Given the description of an element on the screen output the (x, y) to click on. 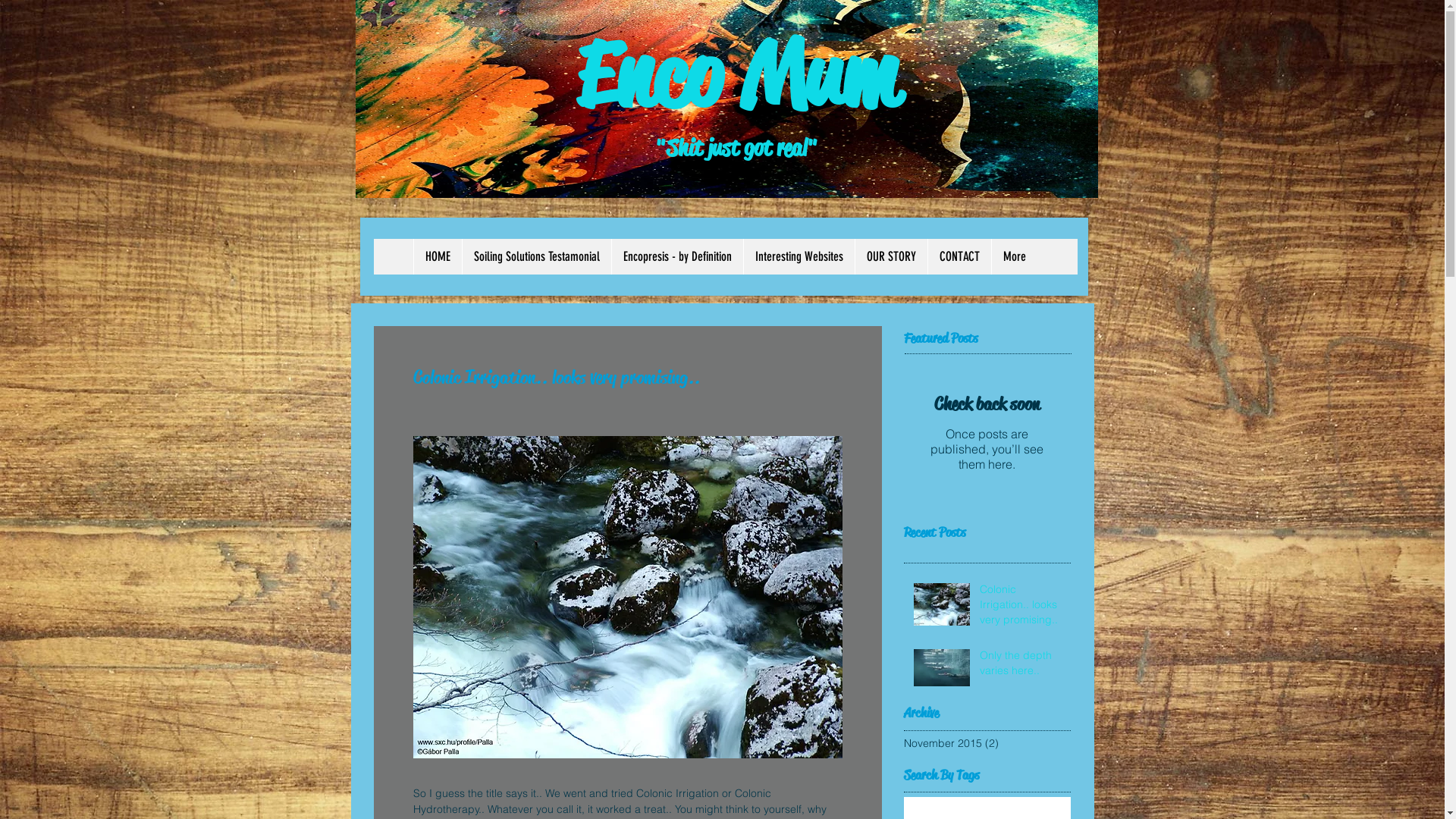
Interesting Websites Element type: text (798, 256)
Only the depth varies here.. Element type: text (1020, 666)
HOME Element type: text (437, 256)
Colonic Irrigation.. looks very promising.. Element type: text (1020, 607)
Encopresis - by Definition Element type: text (677, 256)
Soiling Solutions Testamonial Element type: text (536, 256)
CONTACT Element type: text (959, 256)
November 2015 (2) Element type: text (983, 743)
OUR STORY Element type: text (890, 256)
